Given the description of an element on the screen output the (x, y) to click on. 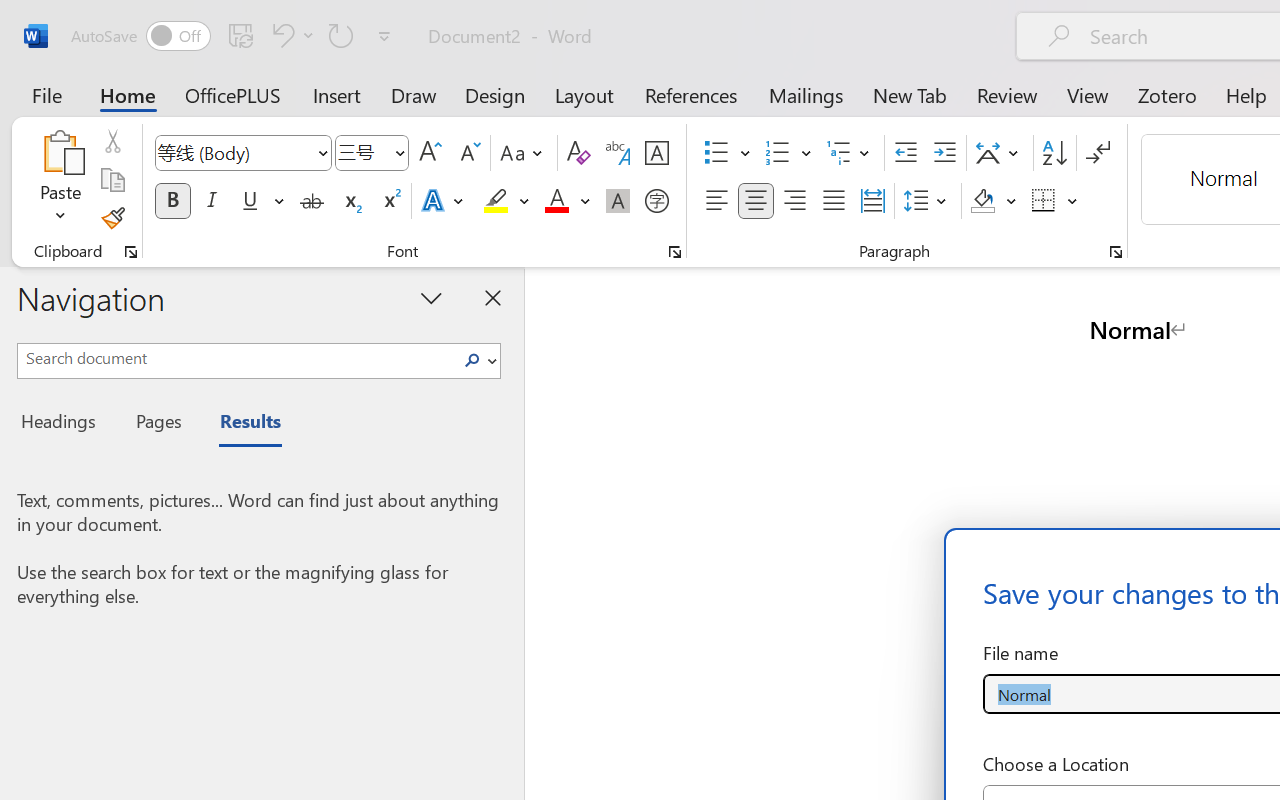
Customize Quick Access Toolbar (384, 35)
Clear Formatting (578, 153)
Align Left (716, 201)
Change Case (524, 153)
Increase Indent (944, 153)
Shrink Font (468, 153)
Font Size (362, 152)
Search document (236, 358)
Copy (112, 179)
Layout (584, 94)
Design (495, 94)
Subscript (350, 201)
Enclose Characters... (656, 201)
Pages (156, 424)
